Given the description of an element on the screen output the (x, y) to click on. 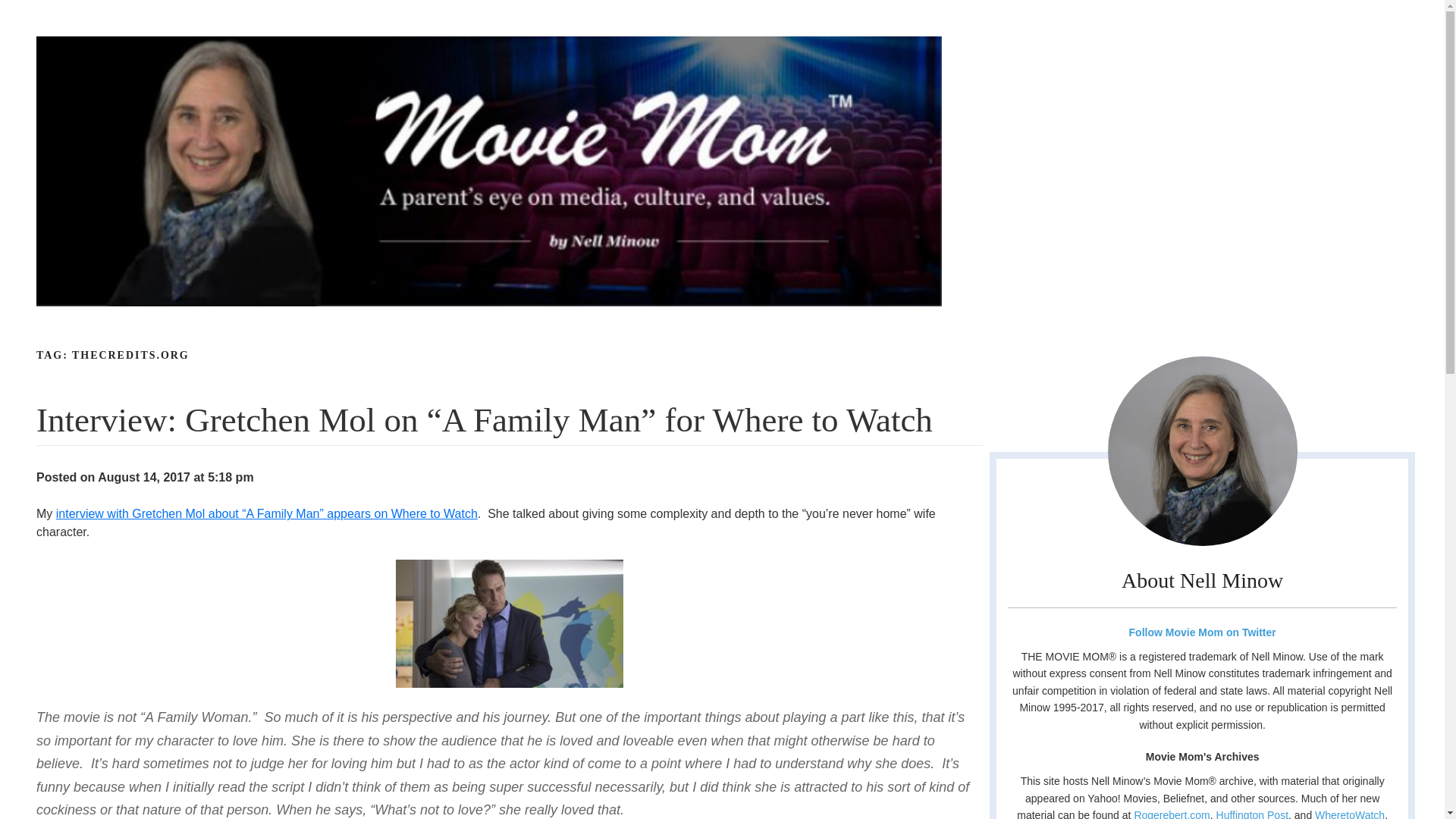
WheretoWatch (1349, 814)
Rogerebert.com (1171, 814)
Huffington Post (1251, 814)
Follow Movie Mom on Twitter (1201, 632)
